Given the description of an element on the screen output the (x, y) to click on. 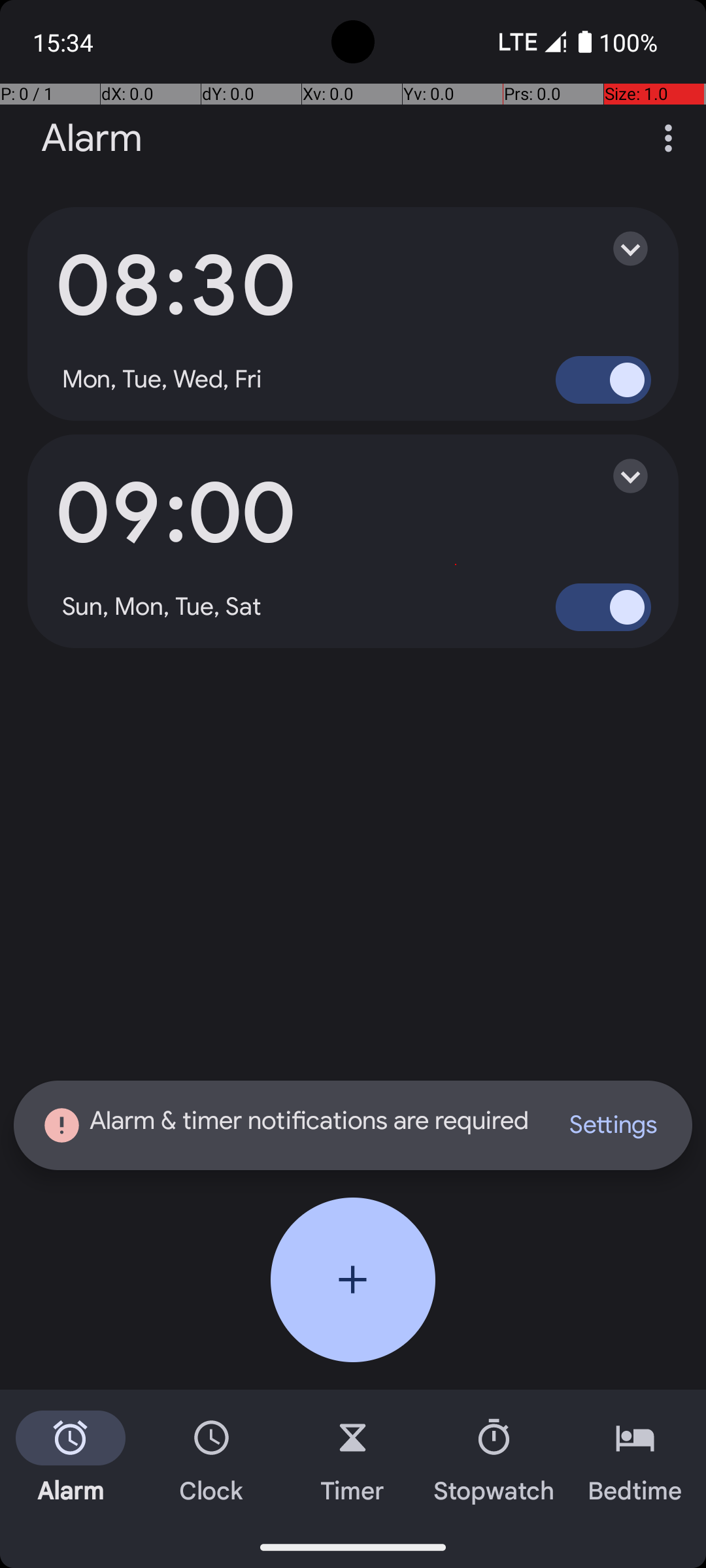
Mon, Tue, Wed, Fri Element type: android.widget.TextView (161, 379)
Sun, Mon, Tue, Sat Element type: android.widget.TextView (161, 606)
Alarm & timer notifications are required Element type: android.widget.TextView (287, 1125)
